Given the description of an element on the screen output the (x, y) to click on. 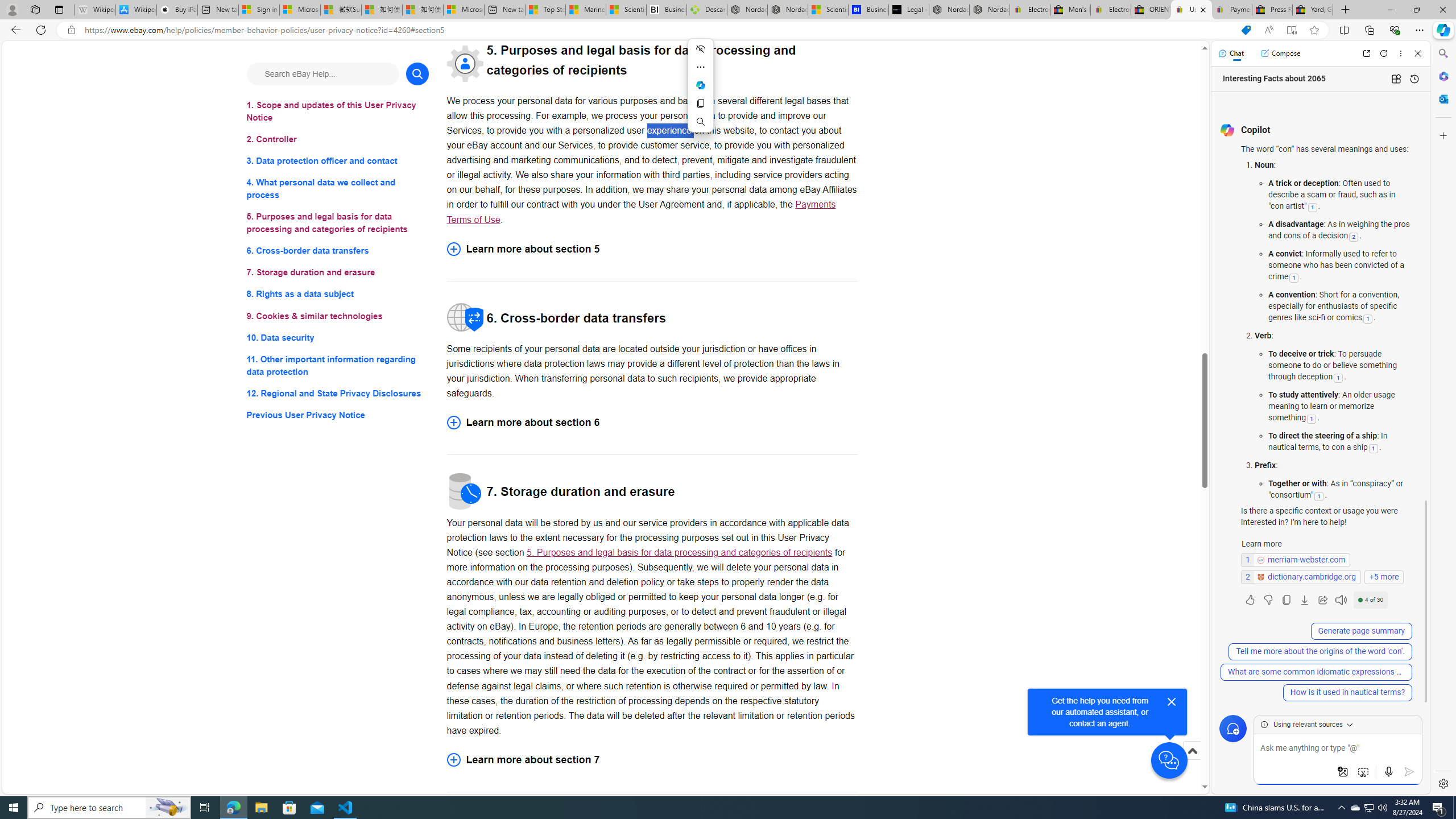
User Privacy Notice | eBay (1191, 9)
Copy (700, 103)
4. What personal data we collect and process (337, 189)
Microsoft Services Agreement (299, 9)
11. Other important information regarding data protection (337, 365)
Electronics, Cars, Fashion, Collectibles & More | eBay (1110, 9)
Descarga Driver Updater (706, 9)
7. Storage duration and erasure (337, 272)
1. Scope and updates of this User Privacy Notice (337, 111)
